Given the description of an element on the screen output the (x, y) to click on. 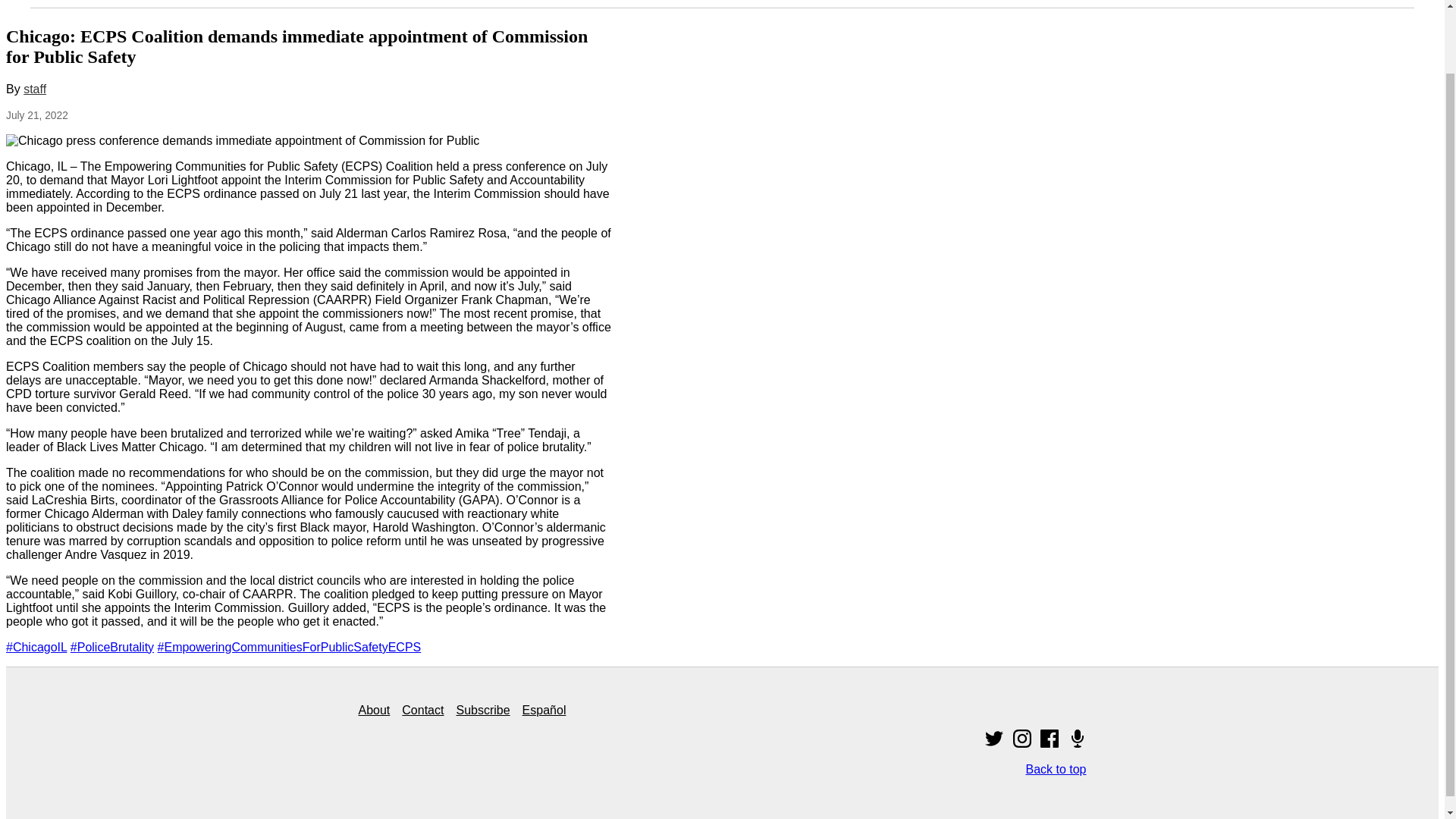
Contact (422, 709)
About (374, 709)
Subscribe (482, 709)
staff (34, 88)
